Given the description of an element on the screen output the (x, y) to click on. 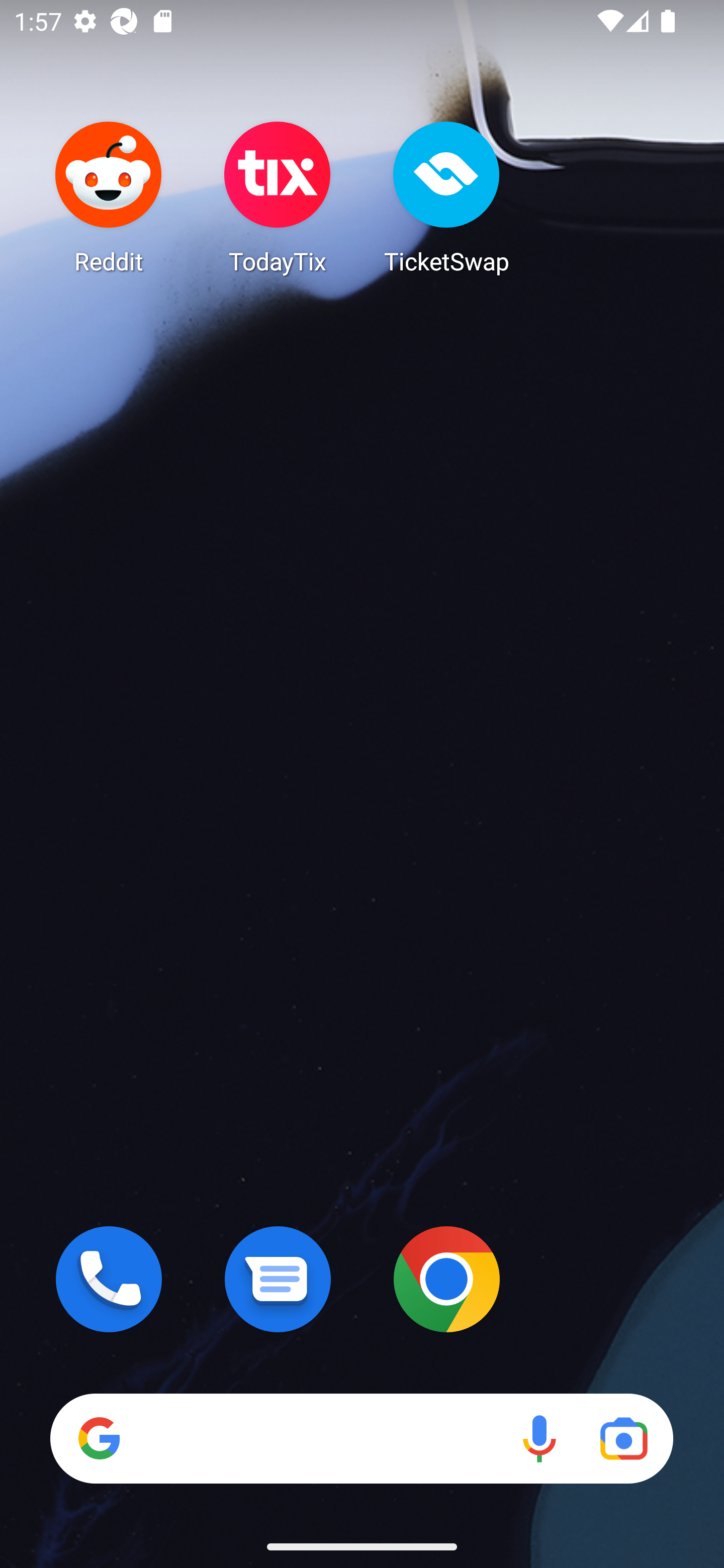
Reddit (108, 196)
TodayTix (277, 196)
TicketSwap (445, 196)
Phone (108, 1279)
Messages (277, 1279)
Chrome (446, 1279)
Voice search (539, 1438)
Google Lens (623, 1438)
